Given the description of an element on the screen output the (x, y) to click on. 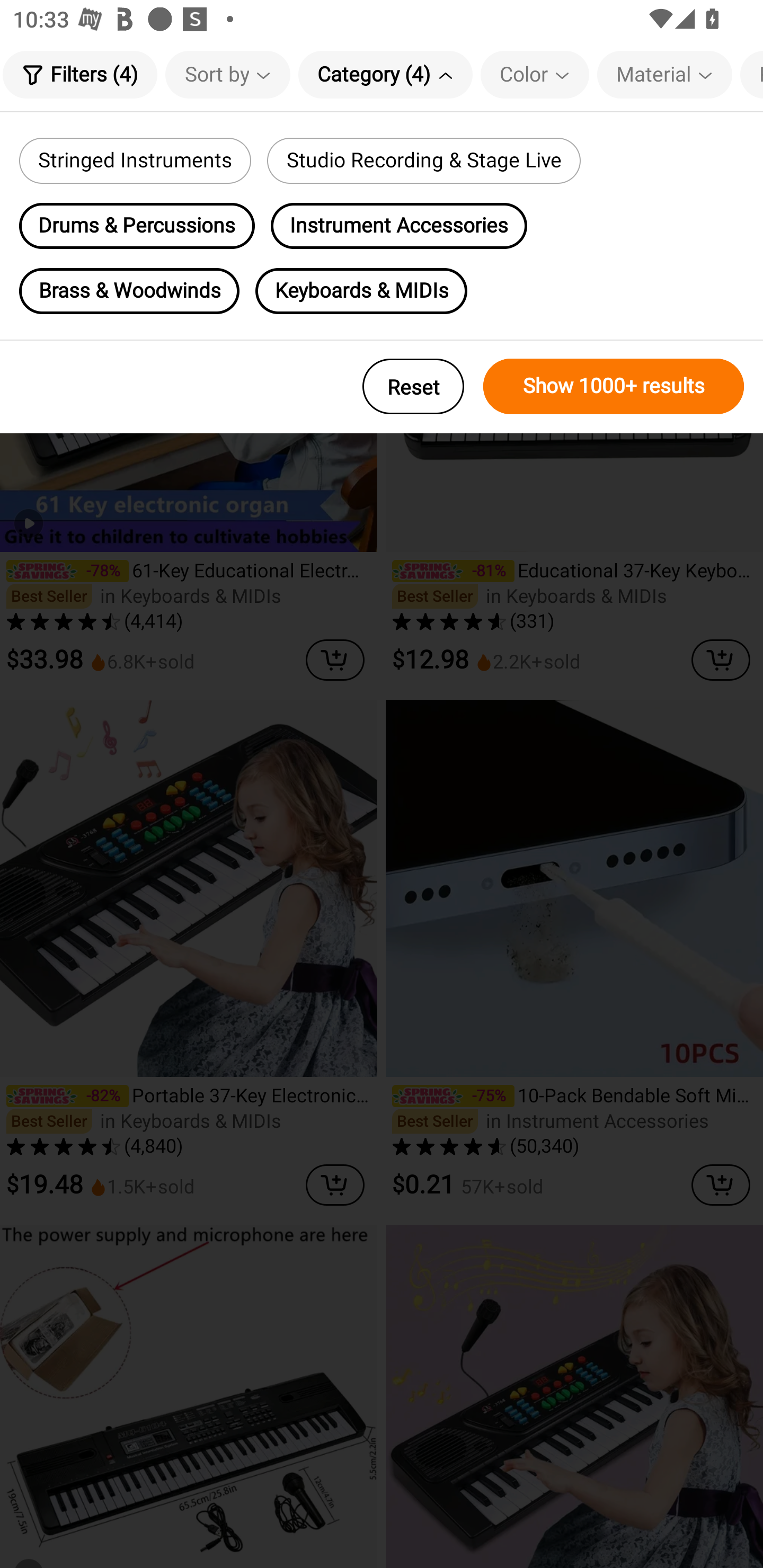
Filters (4) (79, 74)
Sort by (227, 74)
Category (4) (385, 74)
Color (534, 74)
Material (664, 74)
Stringed Instruments (135, 160)
Studio Recording & Stage Live (423, 160)
Drums & Percussions (136, 225)
Instrument Accessories (398, 225)
Brass & Woodwinds (129, 290)
Keyboards & MIDIs (360, 290)
Reset (412, 386)
Show 1000+ results (612, 386)
